Given the description of an element on the screen output the (x, y) to click on. 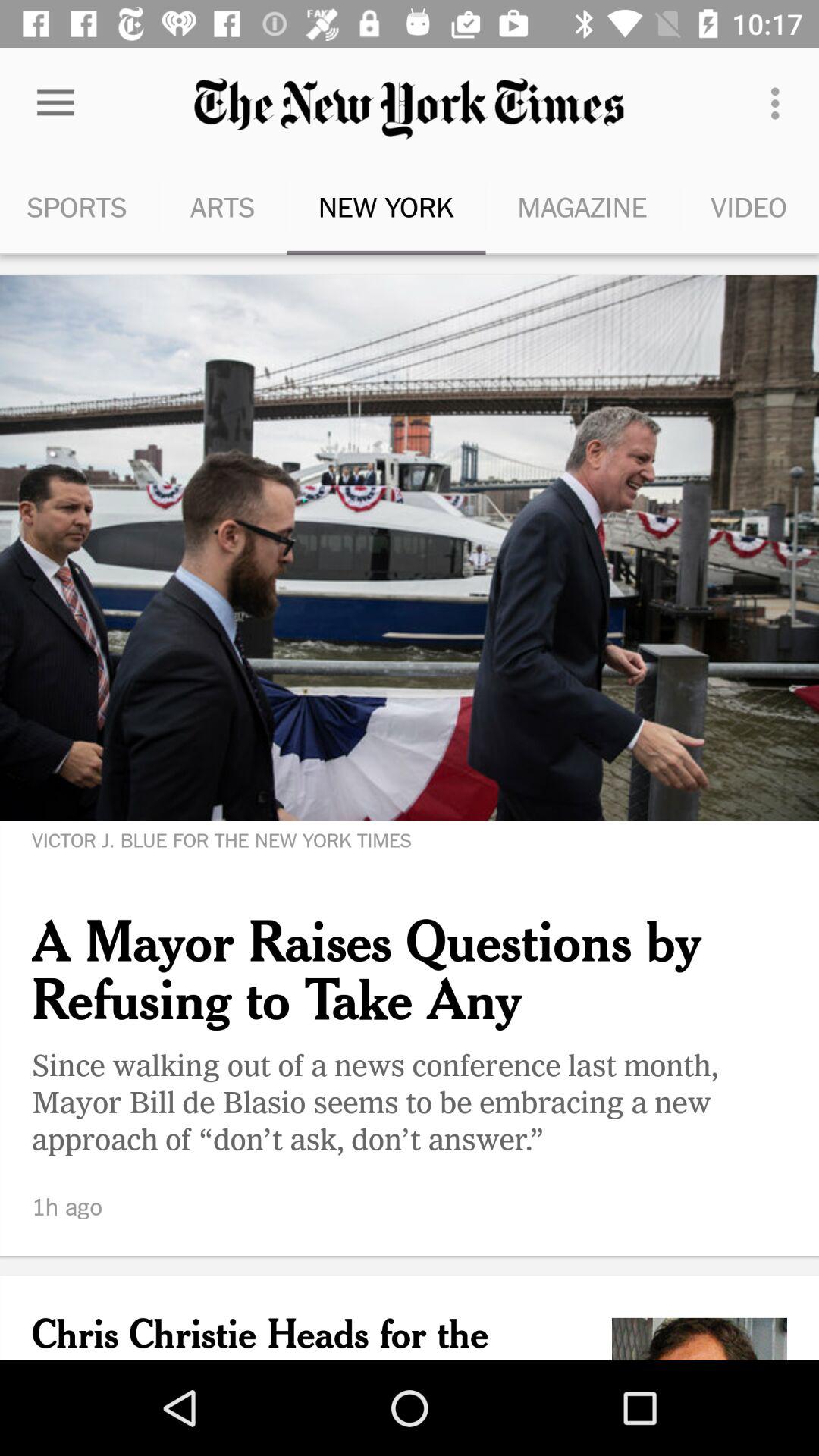
tap the video icon (749, 206)
